Given the description of an element on the screen output the (x, y) to click on. 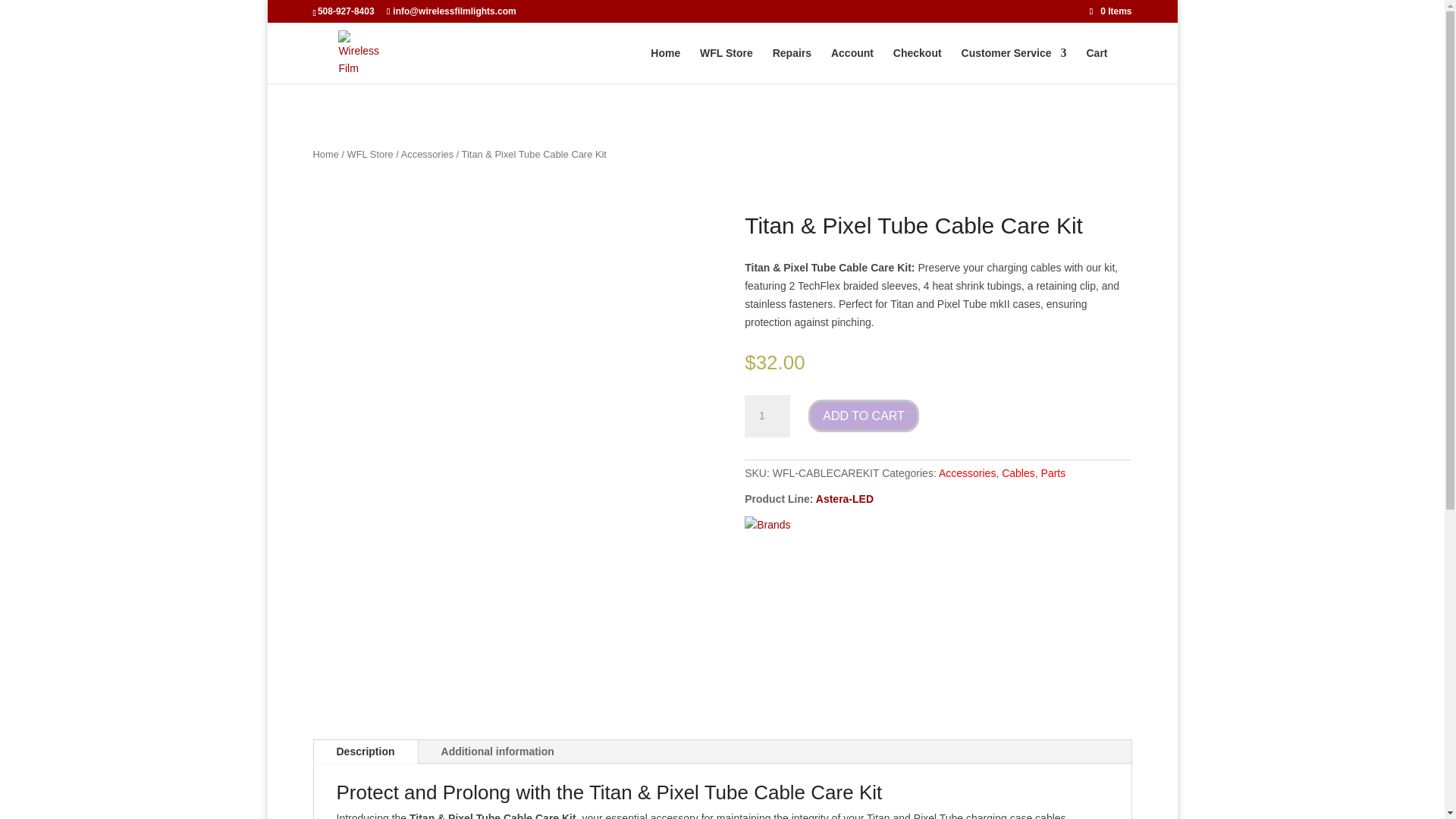
Accessories (967, 472)
WFL Store (726, 65)
Accessories (426, 153)
Additional information (497, 752)
0 Items (1110, 10)
Repairs (791, 65)
Checkout (917, 65)
Account (852, 65)
Customer Service (1013, 65)
Home (325, 153)
Description (365, 752)
ADD TO CART (863, 415)
1 (767, 415)
WFL Store (370, 153)
Astera-LED (844, 499)
